Given the description of an element on the screen output the (x, y) to click on. 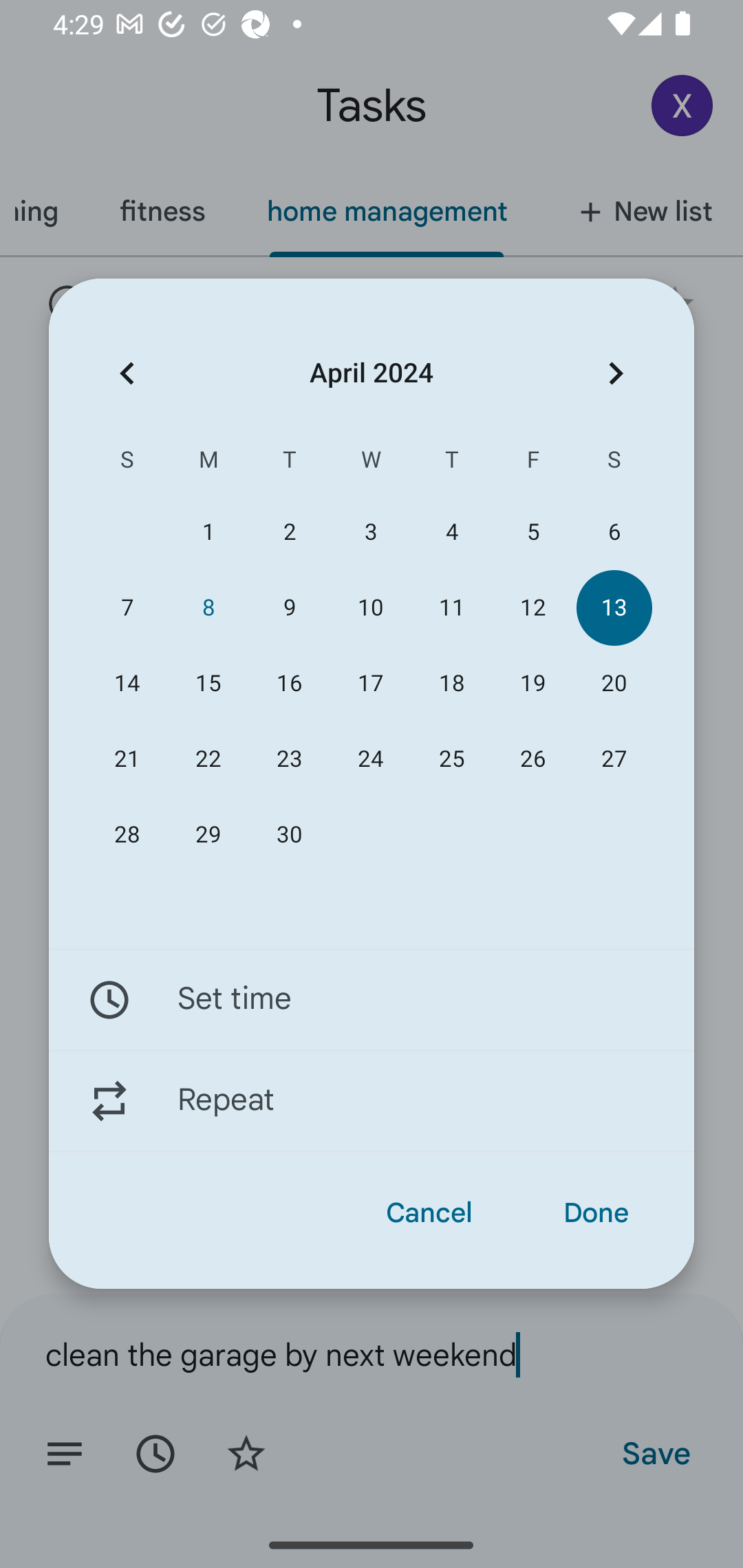
Previous month (126, 372)
Next month (615, 372)
1 01 April 2024 (207, 531)
2 02 April 2024 (288, 531)
3 03 April 2024 (370, 531)
4 04 April 2024 (451, 531)
5 05 April 2024 (532, 531)
6 06 April 2024 (613, 531)
7 07 April 2024 (126, 608)
8 08 April 2024 (207, 608)
9 09 April 2024 (288, 608)
10 10 April 2024 (370, 608)
11 11 April 2024 (451, 608)
12 12 April 2024 (532, 608)
13 13 April 2024 (613, 608)
14 14 April 2024 (126, 683)
15 15 April 2024 (207, 683)
16 16 April 2024 (288, 683)
17 17 April 2024 (370, 683)
18 18 April 2024 (451, 683)
19 19 April 2024 (532, 683)
20 20 April 2024 (613, 683)
21 21 April 2024 (126, 758)
22 22 April 2024 (207, 758)
23 23 April 2024 (288, 758)
24 24 April 2024 (370, 758)
25 25 April 2024 (451, 758)
26 26 April 2024 (532, 758)
27 27 April 2024 (613, 758)
28 28 April 2024 (126, 834)
29 29 April 2024 (207, 834)
30 30 April 2024 (288, 834)
Set time (371, 999)
Repeat (371, 1101)
Cancel (429, 1213)
Done (595, 1213)
